Given the description of an element on the screen output the (x, y) to click on. 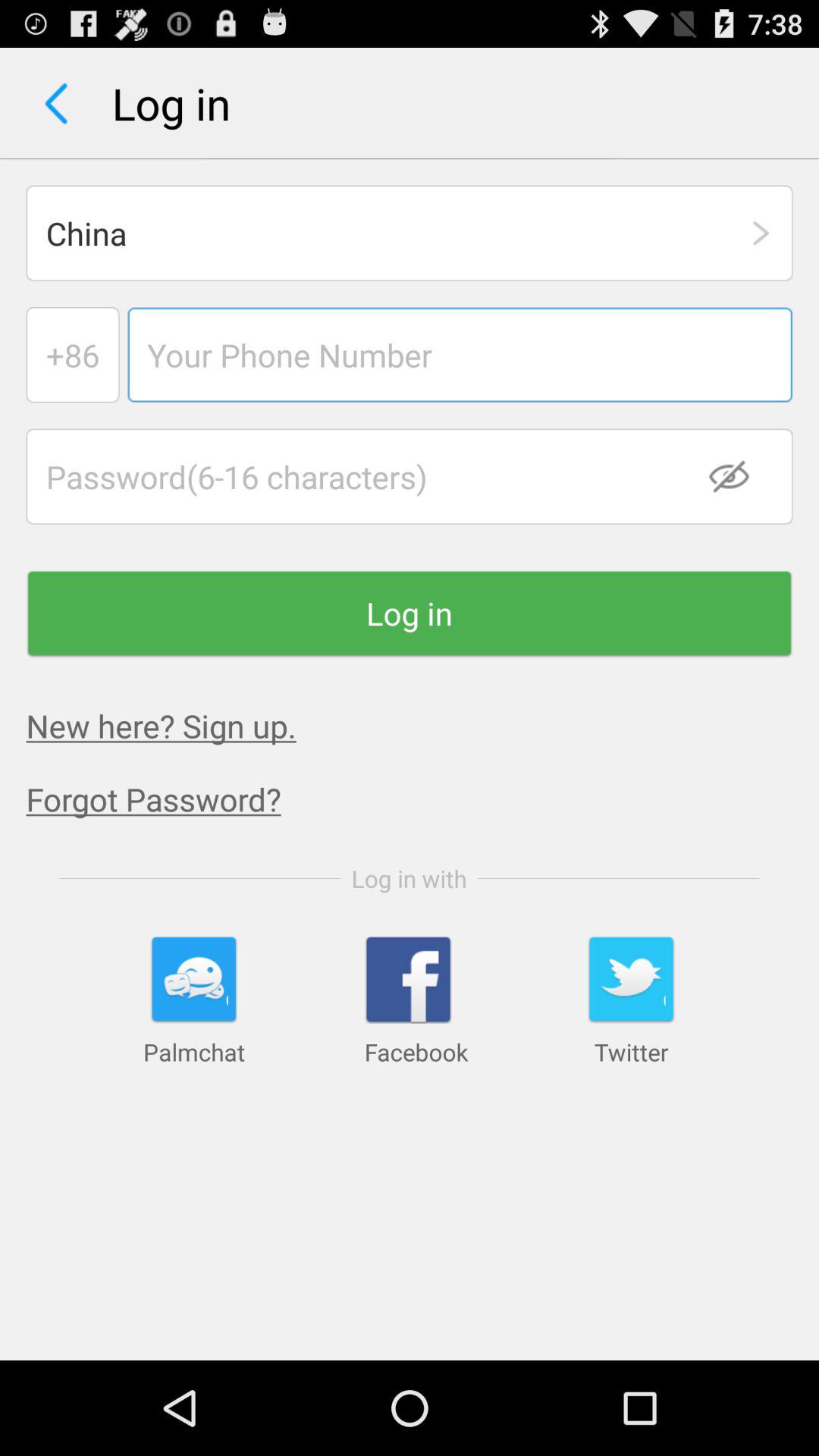
flip to new here sign item (161, 725)
